Given the description of an element on the screen output the (x, y) to click on. 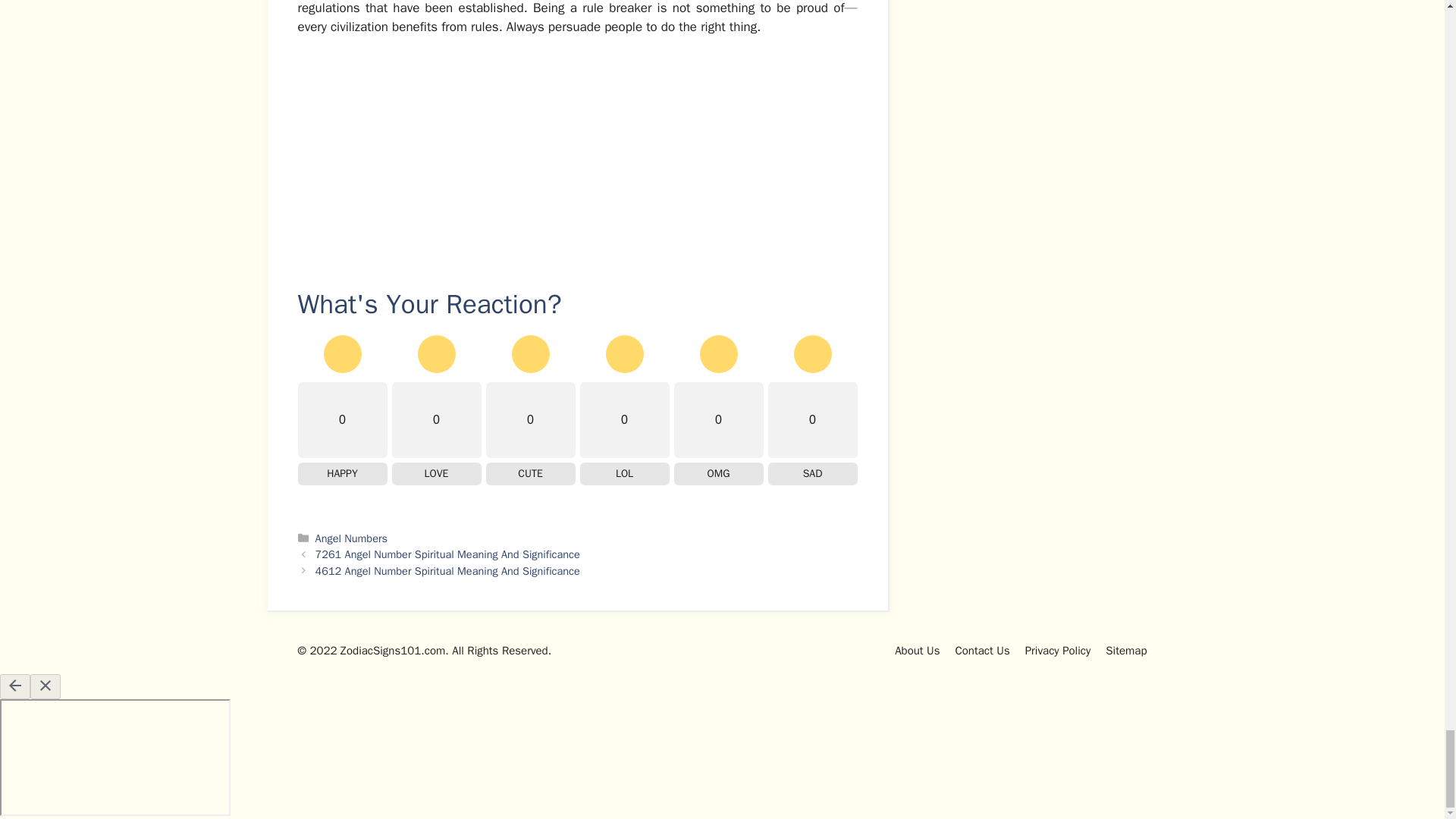
7261 Angel Number Spiritual Meaning And Significance (447, 554)
Angel Numbers (351, 538)
4612 Angel Number Spiritual Meaning And Significance (447, 571)
